Given the description of an element on the screen output the (x, y) to click on. 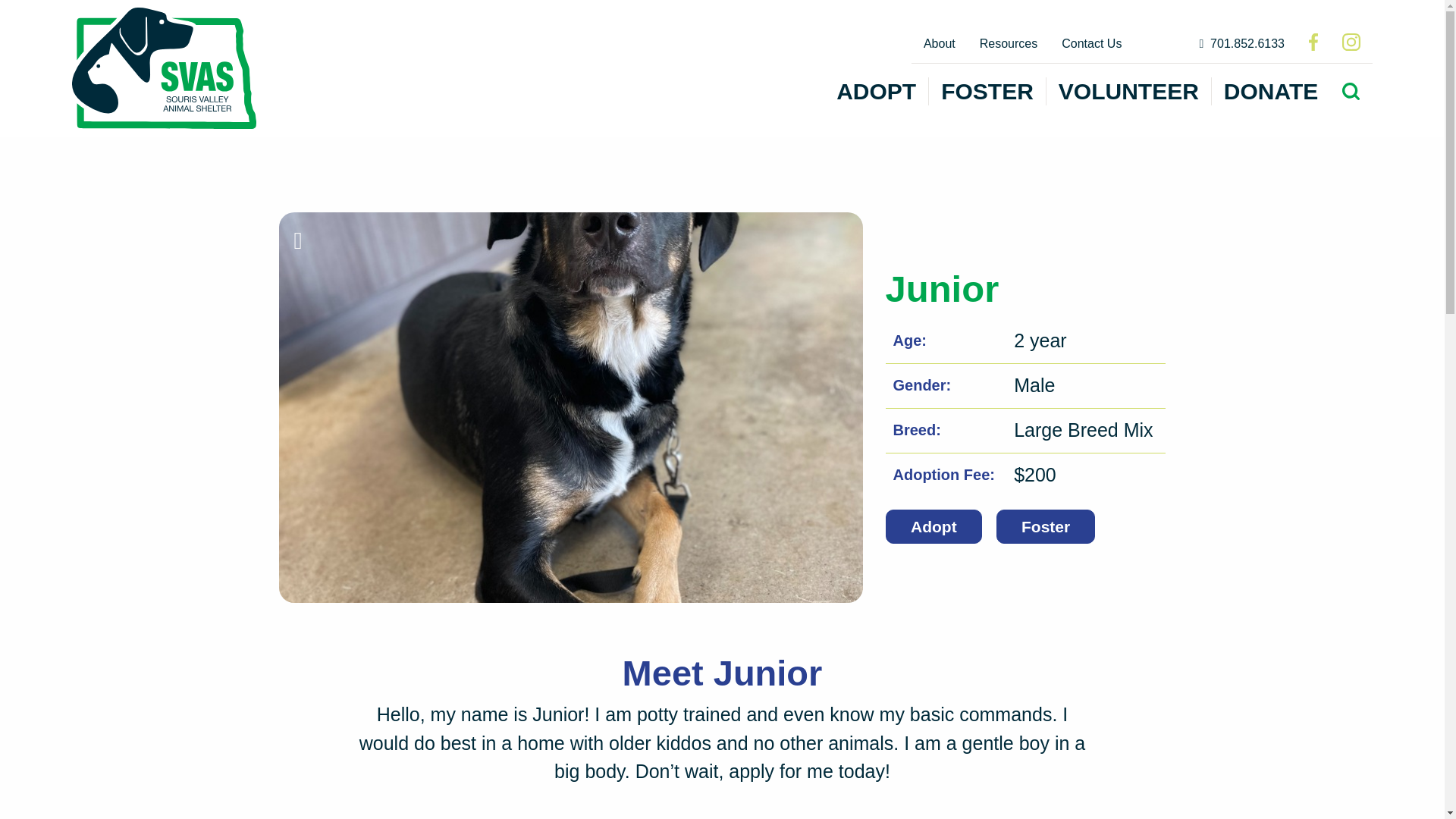
Contact Us (1091, 44)
ADOPT (876, 91)
Resources (1008, 44)
FOSTER (986, 91)
Foster Application (1044, 526)
VOLUNTEER (1128, 91)
About (939, 44)
  701.852.6133 (1241, 44)
Adoption Application (933, 526)
